Given the description of an element on the screen output the (x, y) to click on. 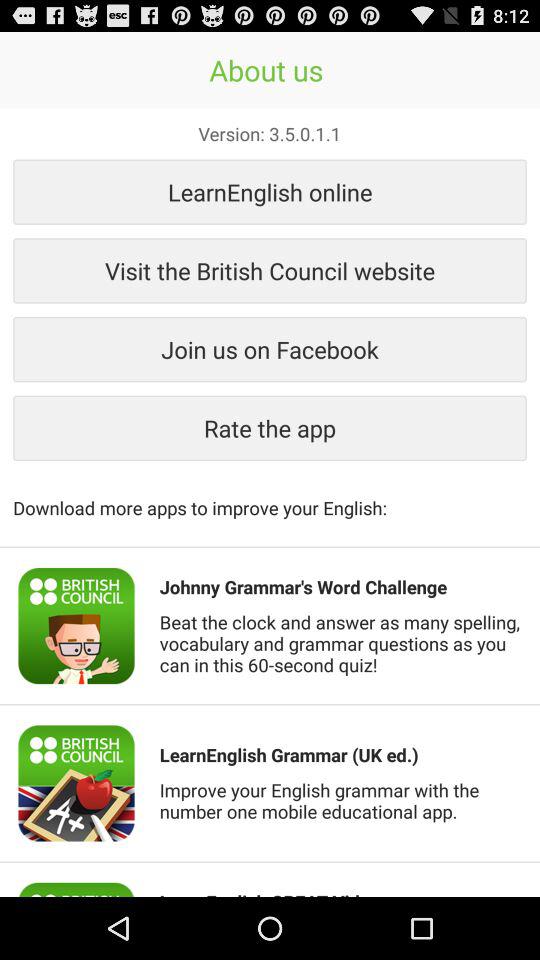
jump to download more apps item (269, 497)
